Given the description of an element on the screen output the (x, y) to click on. 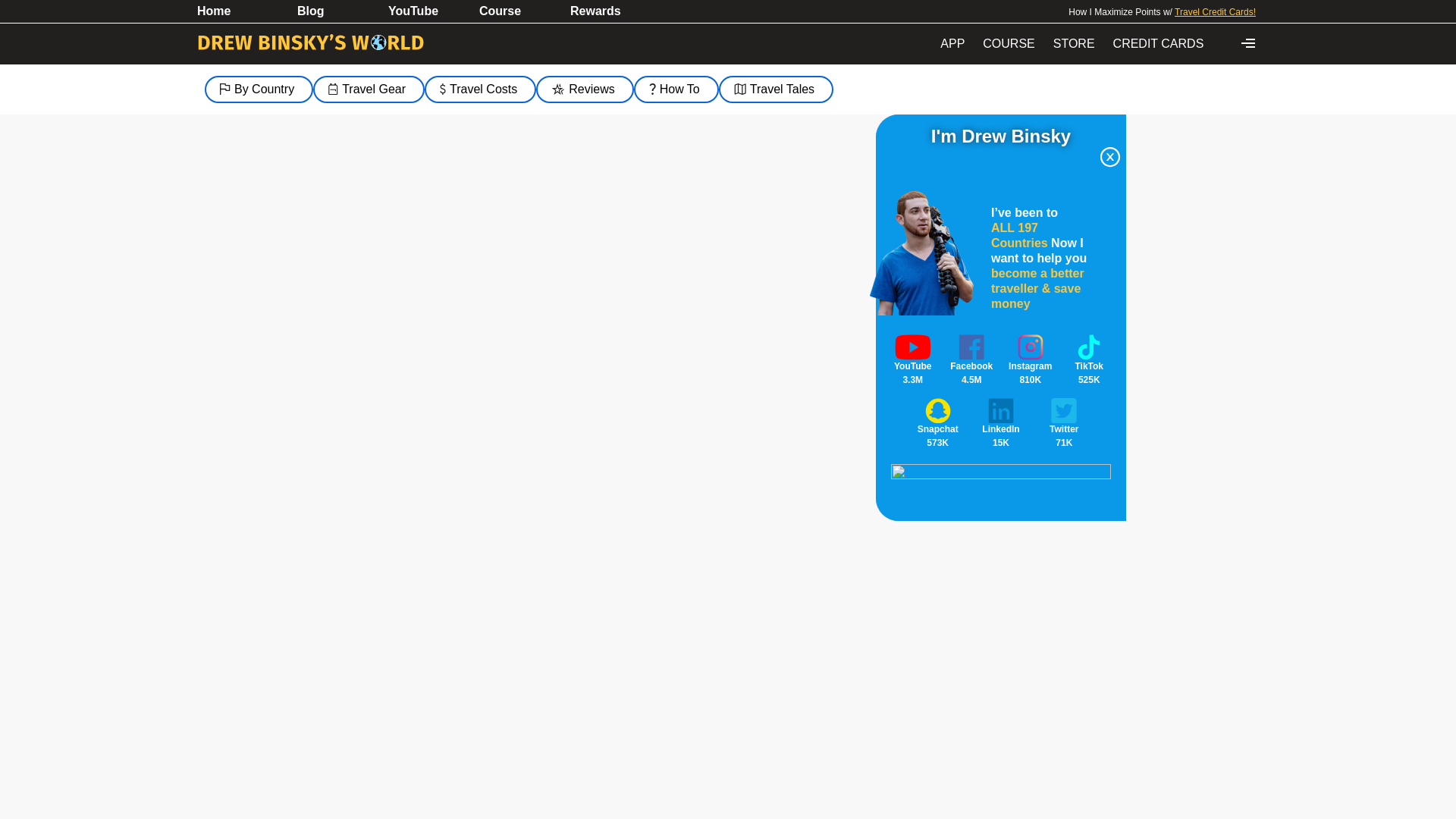
How To (676, 89)
Home (242, 11)
Travel Gear (369, 89)
Reviews (584, 89)
COURSE (1008, 43)
Blog (333, 11)
Travel Tales (775, 89)
By Country (259, 89)
Course (515, 11)
Travel Costs (480, 89)
